Given the description of an element on the screen output the (x, y) to click on. 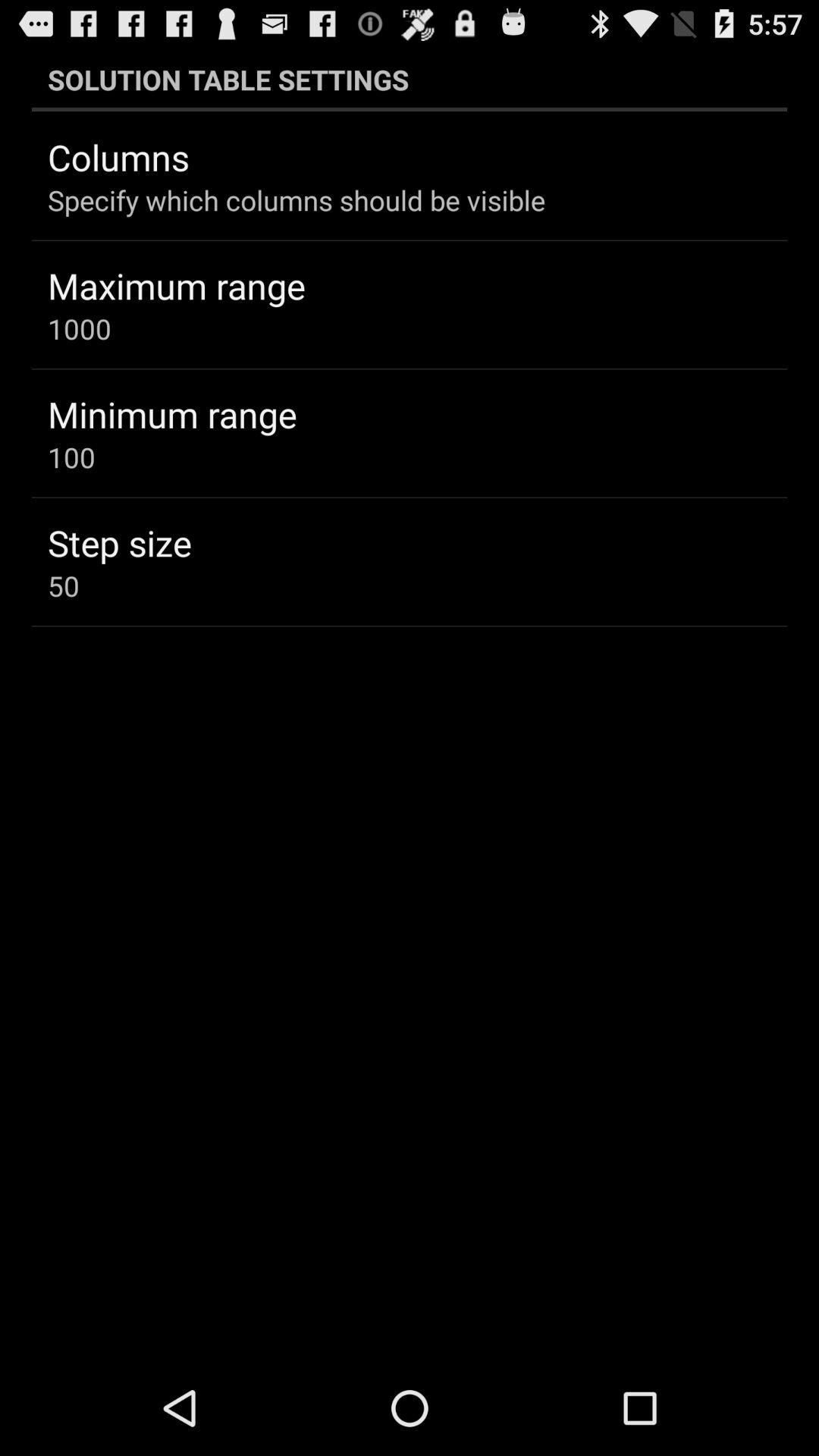
turn off the icon above the 50 (119, 542)
